Given the description of an element on the screen output the (x, y) to click on. 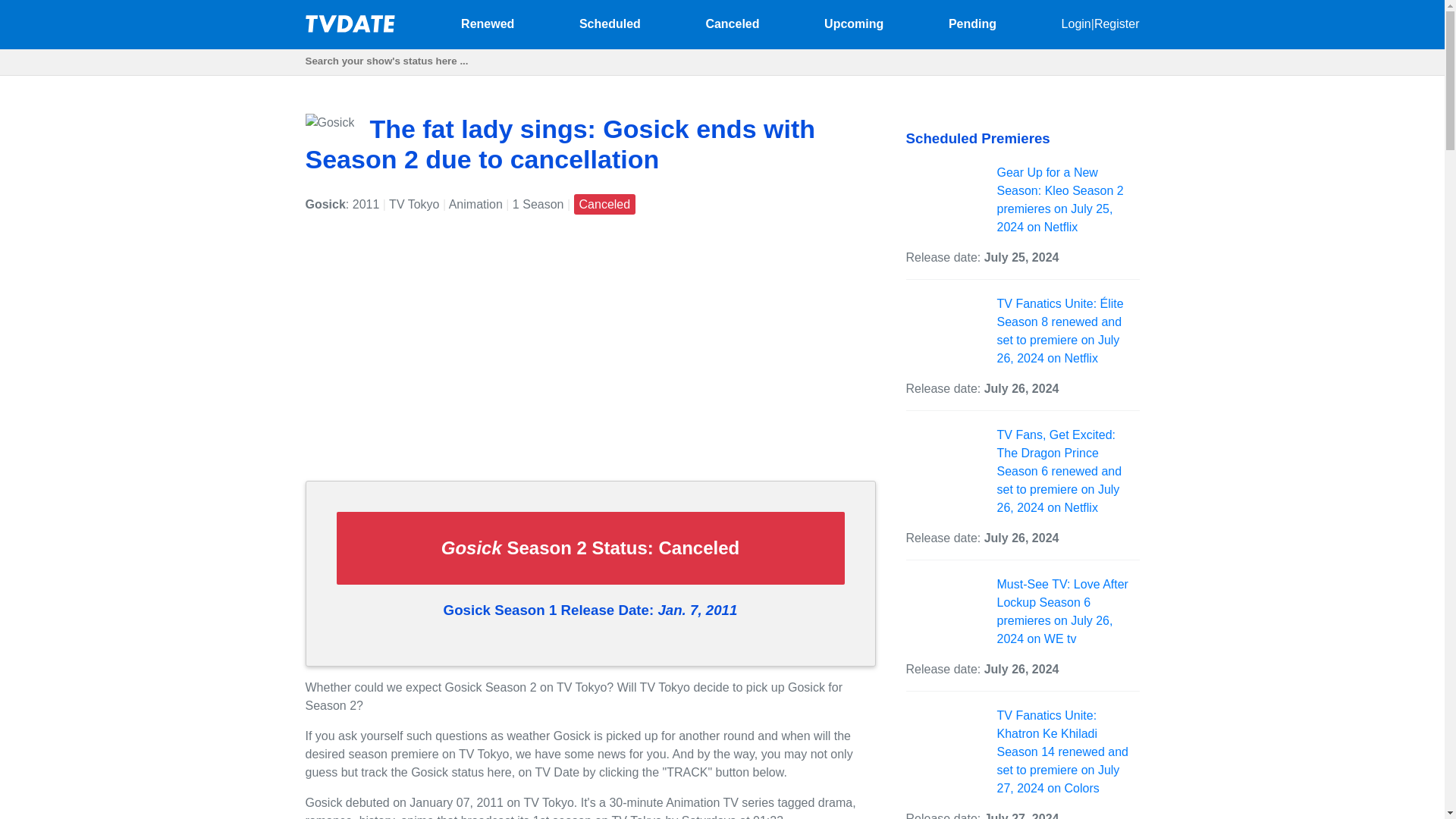
Canceled (731, 23)
Advertisement (589, 362)
Upcoming (853, 23)
Scheduled (609, 23)
Register (1117, 23)
Login (1075, 23)
Renewed (487, 23)
Pending (972, 23)
